Given the description of an element on the screen output the (x, y) to click on. 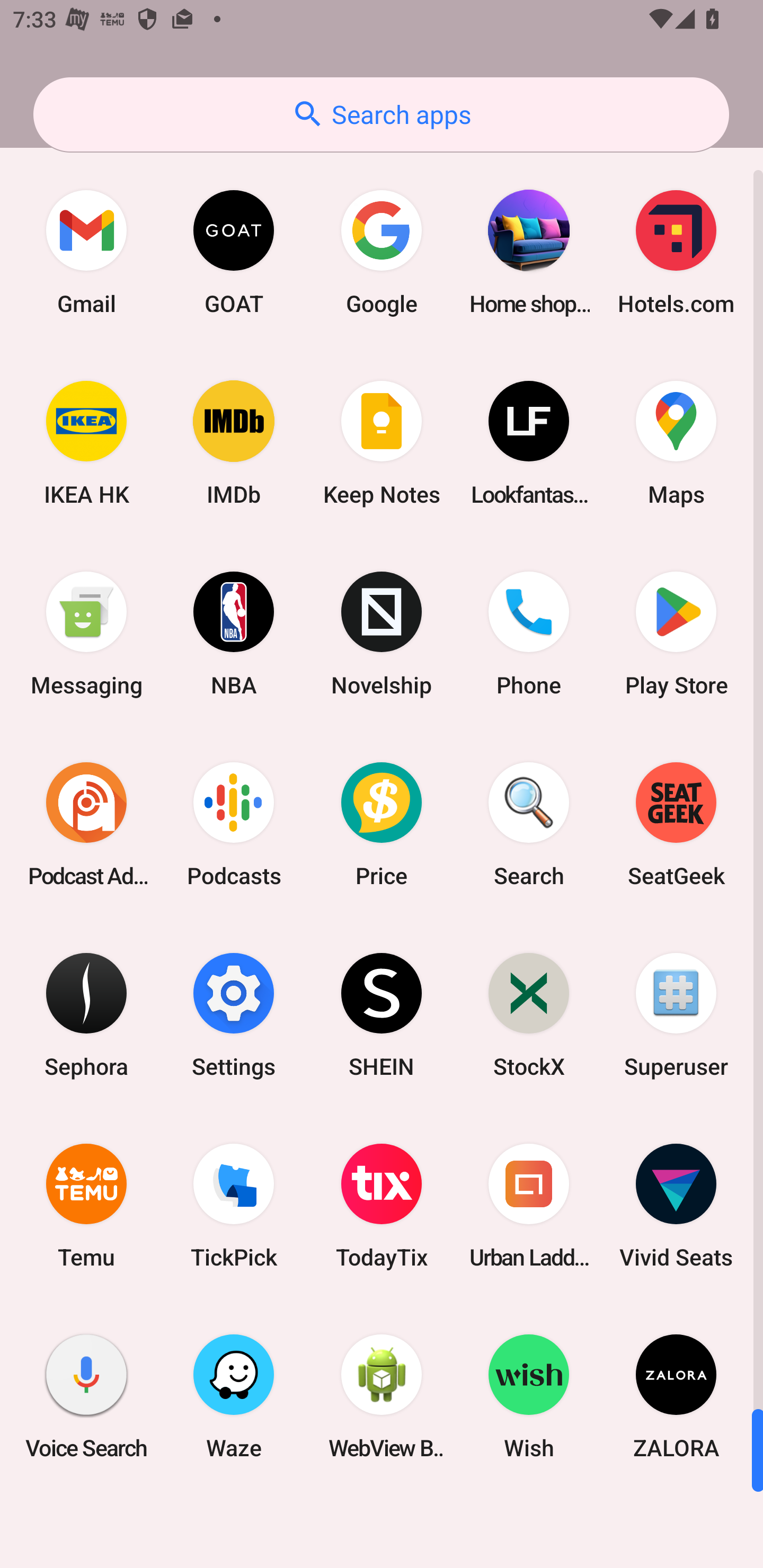
  Search apps (381, 114)
Gmail (86, 252)
GOAT (233, 252)
Google (381, 252)
Home shopping (528, 252)
Hotels.com (676, 252)
IKEA HK (86, 442)
IMDb (233, 442)
Keep Notes (381, 442)
Lookfantastic (528, 442)
Maps (676, 442)
Messaging (86, 633)
NBA (233, 633)
Novelship (381, 633)
Phone (528, 633)
Play Store (676, 633)
Podcast Addict (86, 823)
Podcasts (233, 823)
Price (381, 823)
Search (528, 823)
SeatGeek (676, 823)
Sephora (86, 1014)
Settings (233, 1014)
SHEIN (381, 1014)
StockX (528, 1014)
Superuser (676, 1014)
Temu (86, 1205)
TickPick (233, 1205)
TodayTix (381, 1205)
Urban Ladder (528, 1205)
Vivid Seats (676, 1205)
Voice Search (86, 1396)
Waze (233, 1396)
WebView Browser Tester (381, 1396)
Wish (528, 1396)
ZALORA (676, 1396)
